Given the description of an element on the screen output the (x, y) to click on. 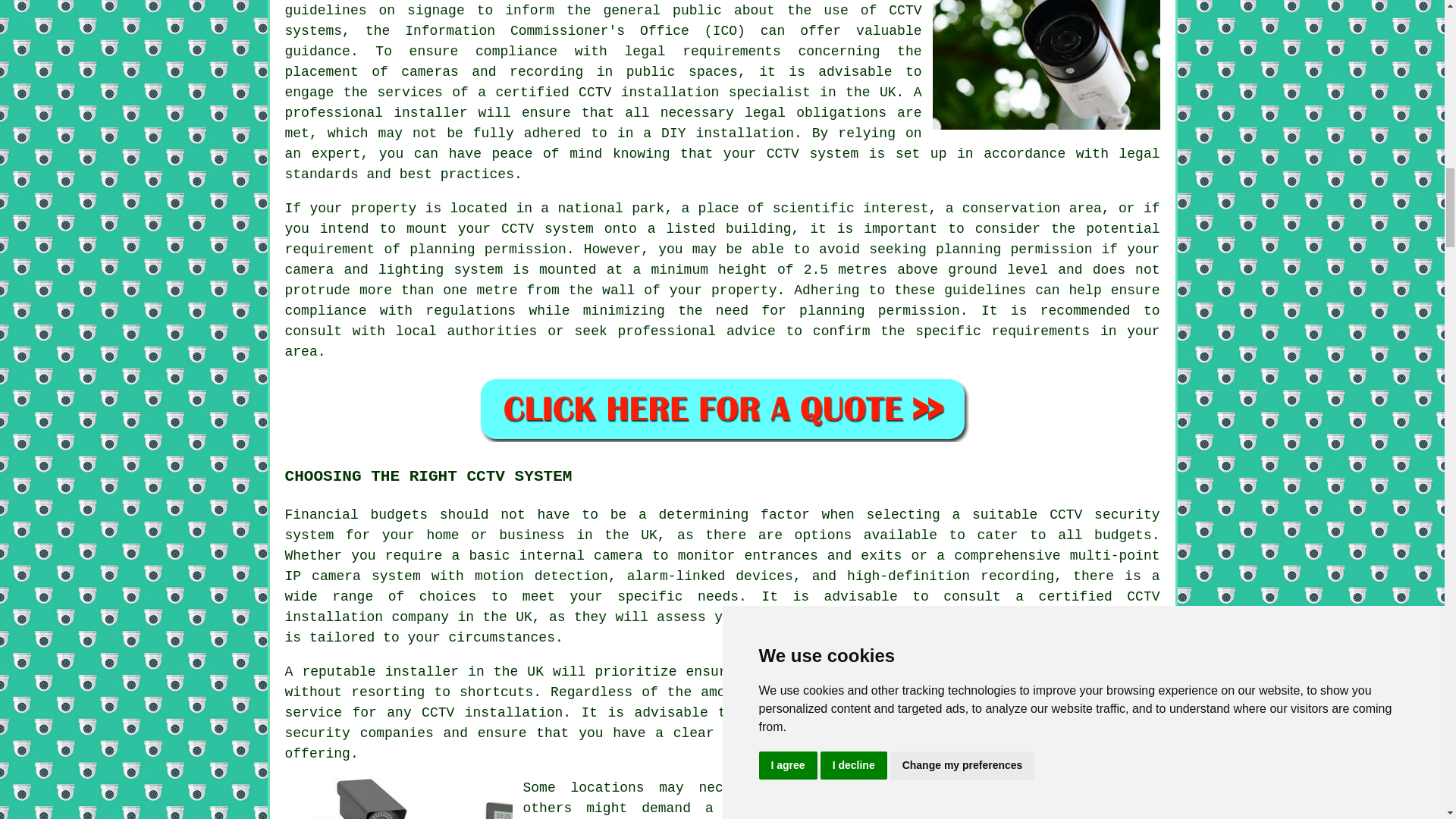
CCTV Systems (398, 798)
CCTV Installation Quotes in the UK (722, 408)
